Given the description of an element on the screen output the (x, y) to click on. 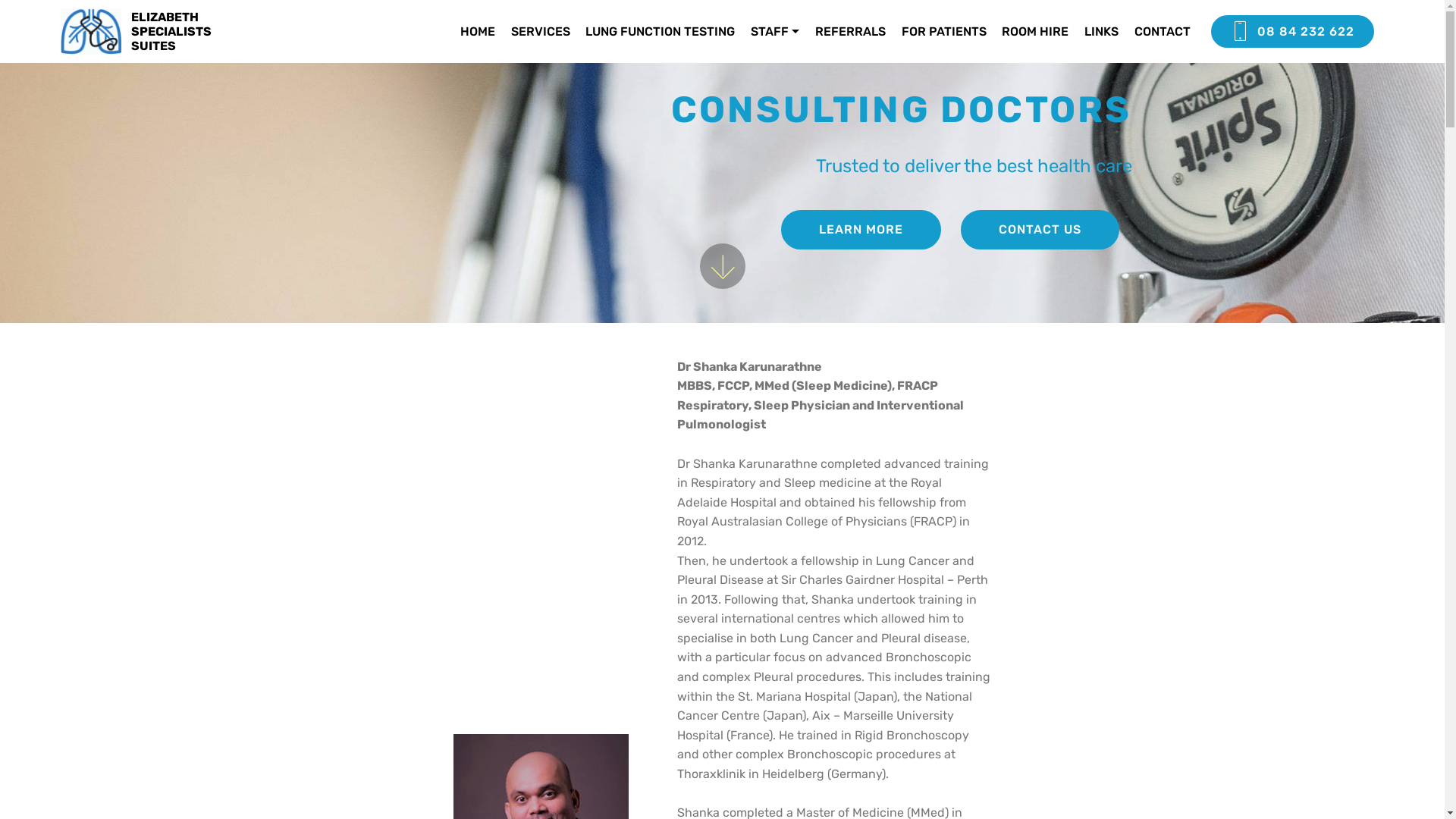
FOR PATIENTS Element type: text (943, 30)
STAFF Element type: text (774, 30)
LUNG FUNCTION TESTING Element type: text (659, 30)
CONTACT US Element type: text (1039, 229)
CONTACT  Element type: text (1163, 30)
ELIZABETH
SPECIALISTS
SUITES  Element type: text (183, 31)
LINKS Element type: text (1101, 30)
Elizabeth Specialist Suites | Home Element type: hover (90, 31)
SERVICES Element type: text (540, 30)
08 84 232 622 Element type: text (1292, 31)
ROOM HIRE Element type: text (1034, 30)
REFERRALS Element type: text (850, 30)
HOME Element type: text (477, 30)
LEARN MORE Element type: text (861, 229)
